Given the description of an element on the screen output the (x, y) to click on. 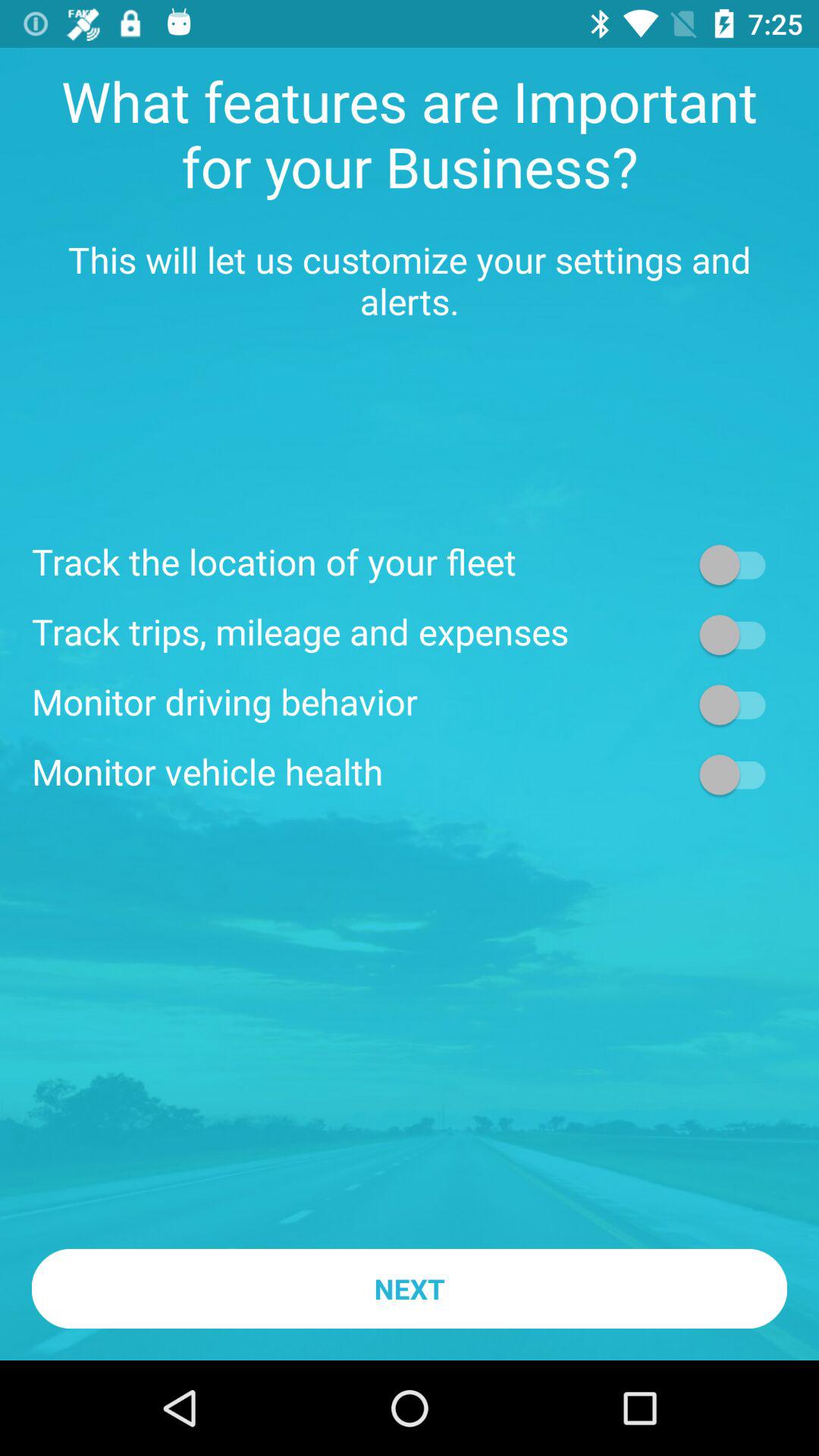
track location control button (739, 564)
